Given the description of an element on the screen output the (x, y) to click on. 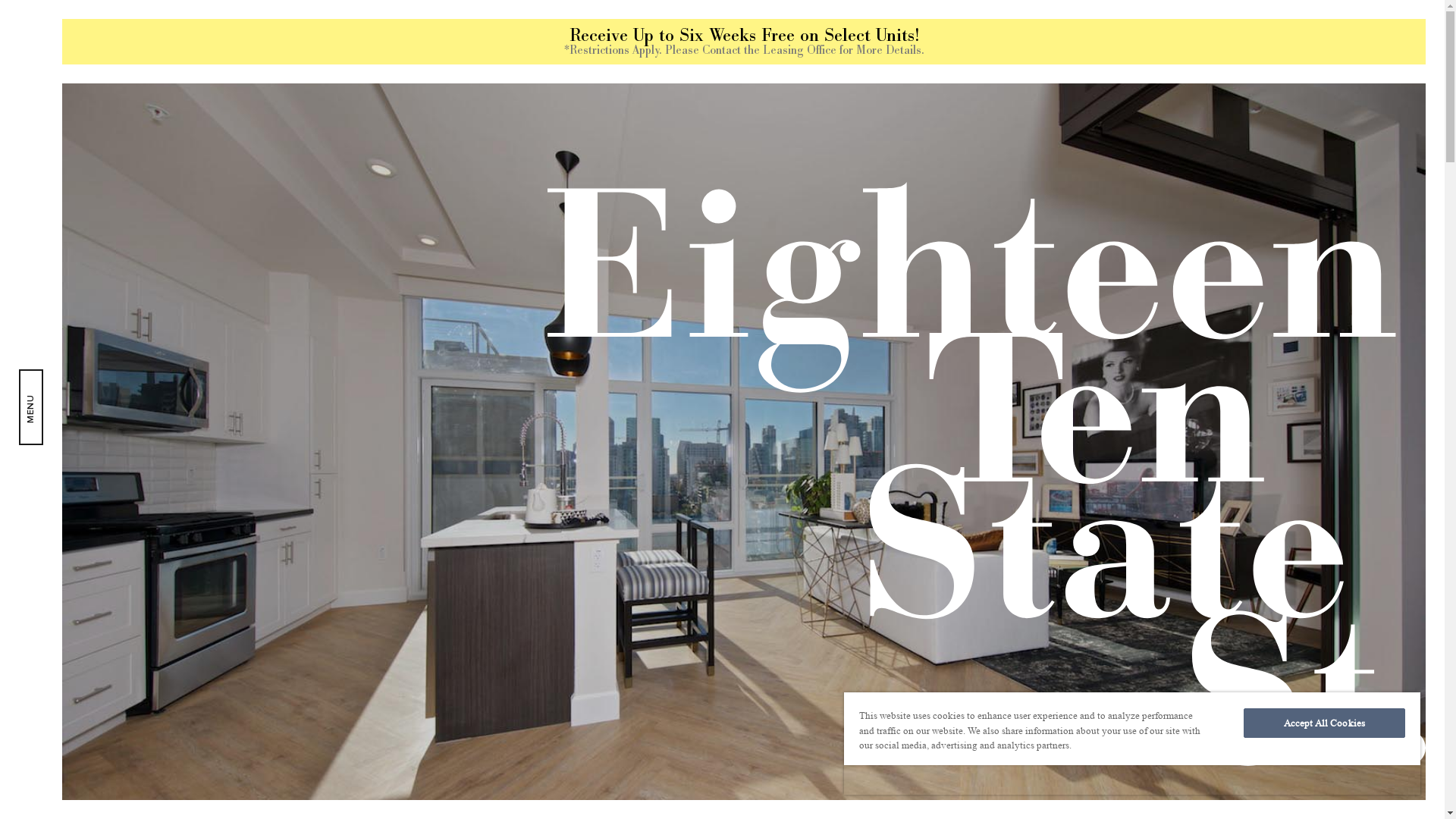
03. Plans & Availability Element type: text (411, 303)
04. Neighborhood Element type: text (352, 408)
05. Created by Element type: text (309, 513)
CONTACT US Element type: text (1103, 655)
833-447-0739 Element type: text (1104, 629)
SCHEDULE A TOUR Element type: text (1103, 522)
Accept All Cookies Element type: text (1324, 722)
02. Gallery Element type: text (268, 199)
07. Lease Now Element type: text (305, 723)
01. Amenities Element type: text (299, 93)
06. Resident Login Element type: text (360, 617)
MENU Element type: text (30, 407)
1810 STATE ST.
SAN DIEGO, CA 92101 Element type: text (1103, 582)
